Given the description of an element on the screen output the (x, y) to click on. 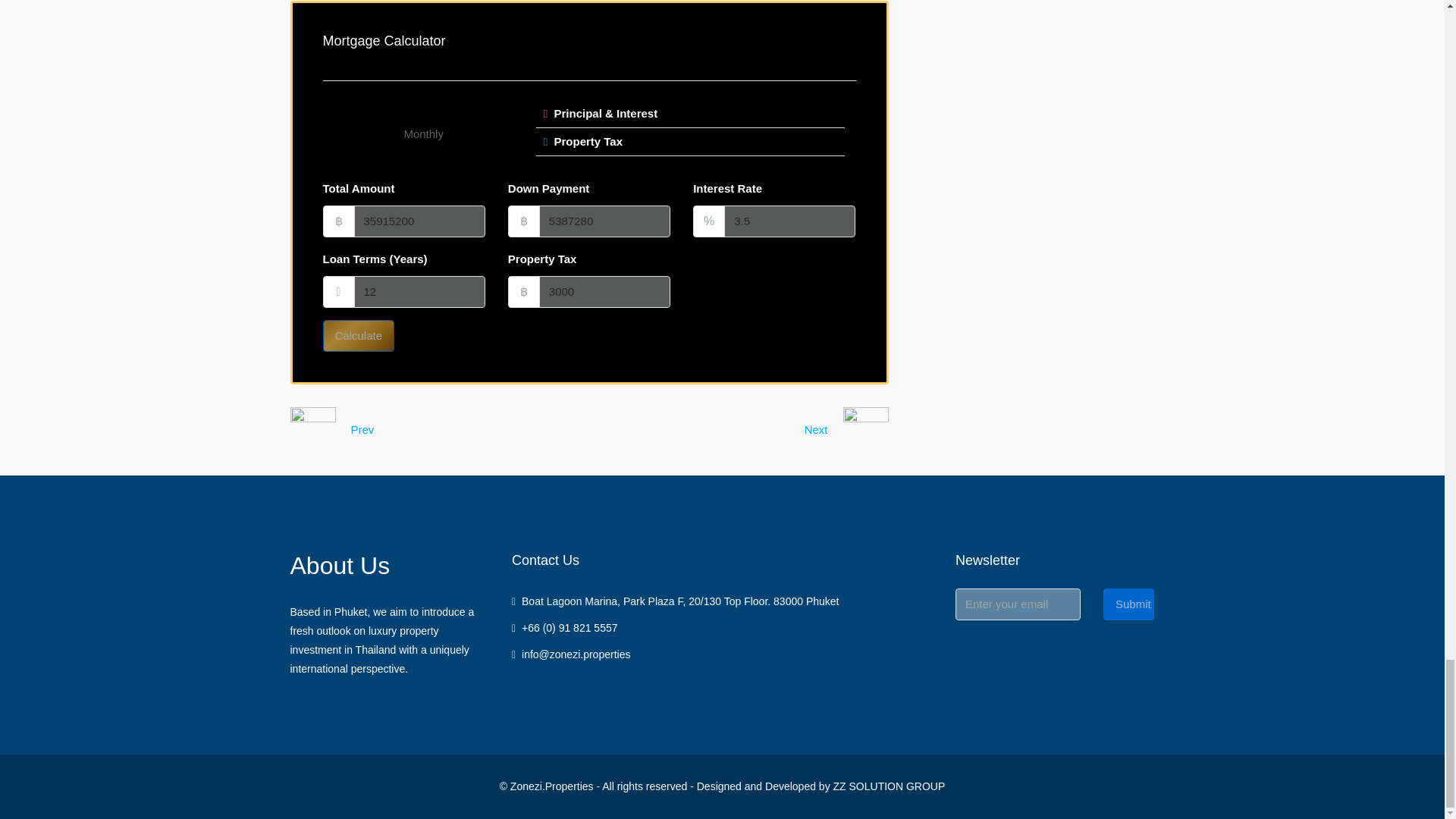
3000 (603, 291)
5387280 (603, 221)
3.5 (789, 221)
12 (418, 291)
35915200 (418, 221)
